Given the description of an element on the screen output the (x, y) to click on. 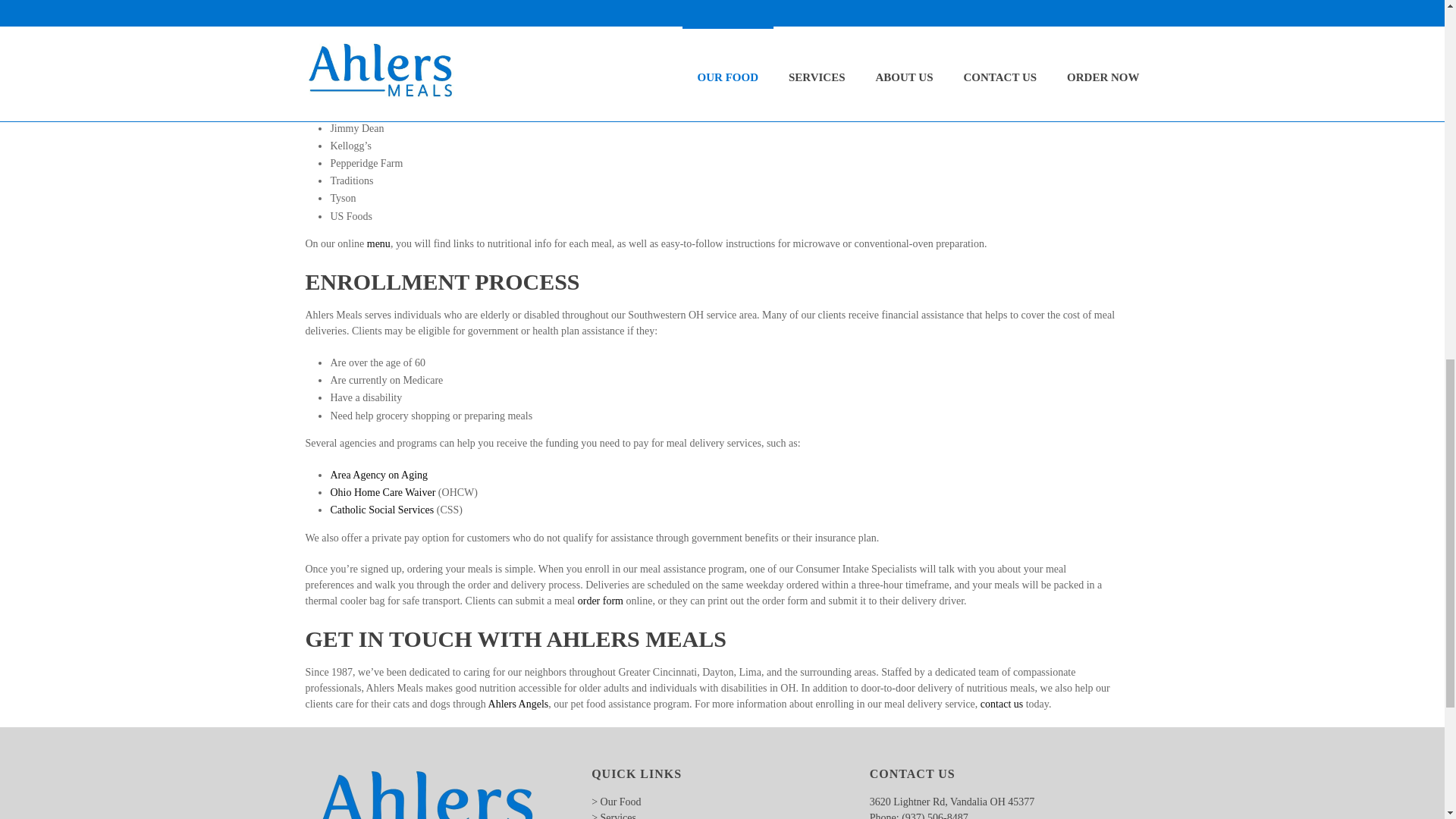
menu (378, 243)
Our providers (786, 43)
Area Agency on Aging (379, 474)
